Given the description of an element on the screen output the (x, y) to click on. 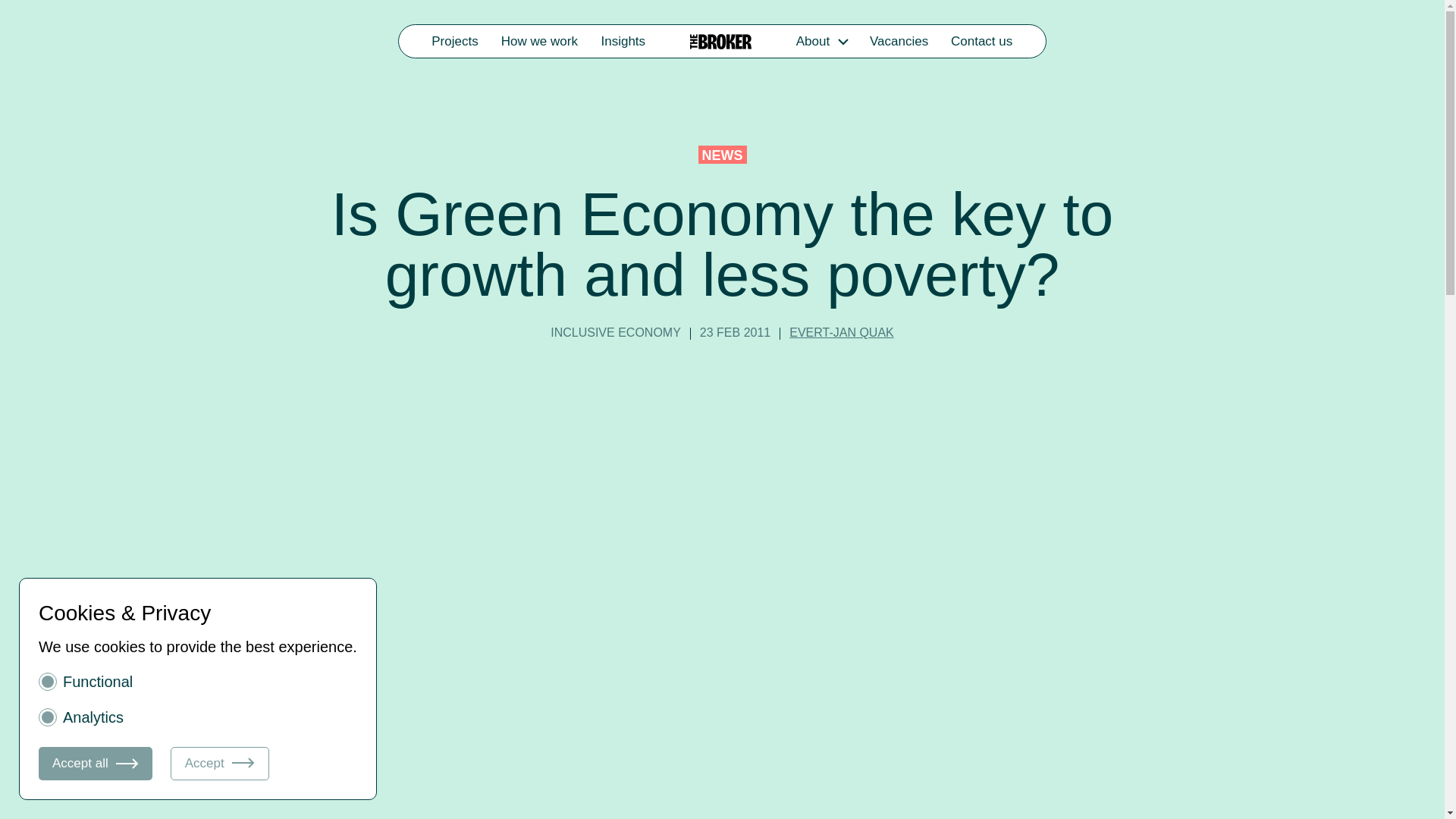
Accept all (95, 763)
Contact us (981, 41)
Accept (219, 763)
About (812, 41)
Projects (454, 41)
How we work (539, 41)
Vacancies (898, 41)
Insights (622, 41)
